Given the description of an element on the screen output the (x, y) to click on. 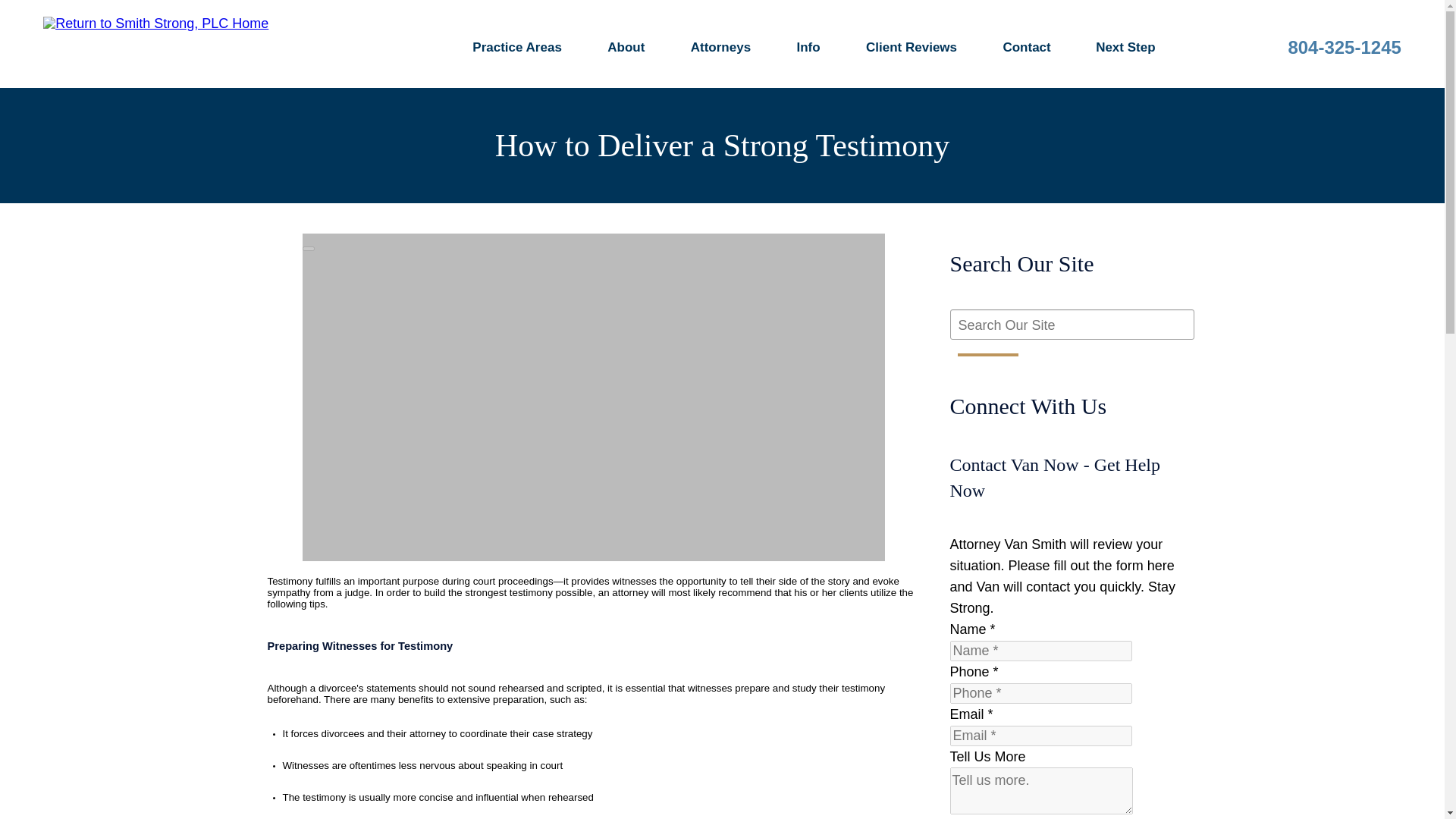
Search (986, 354)
Practice Areas (517, 50)
